Given the description of an element on the screen output the (x, y) to click on. 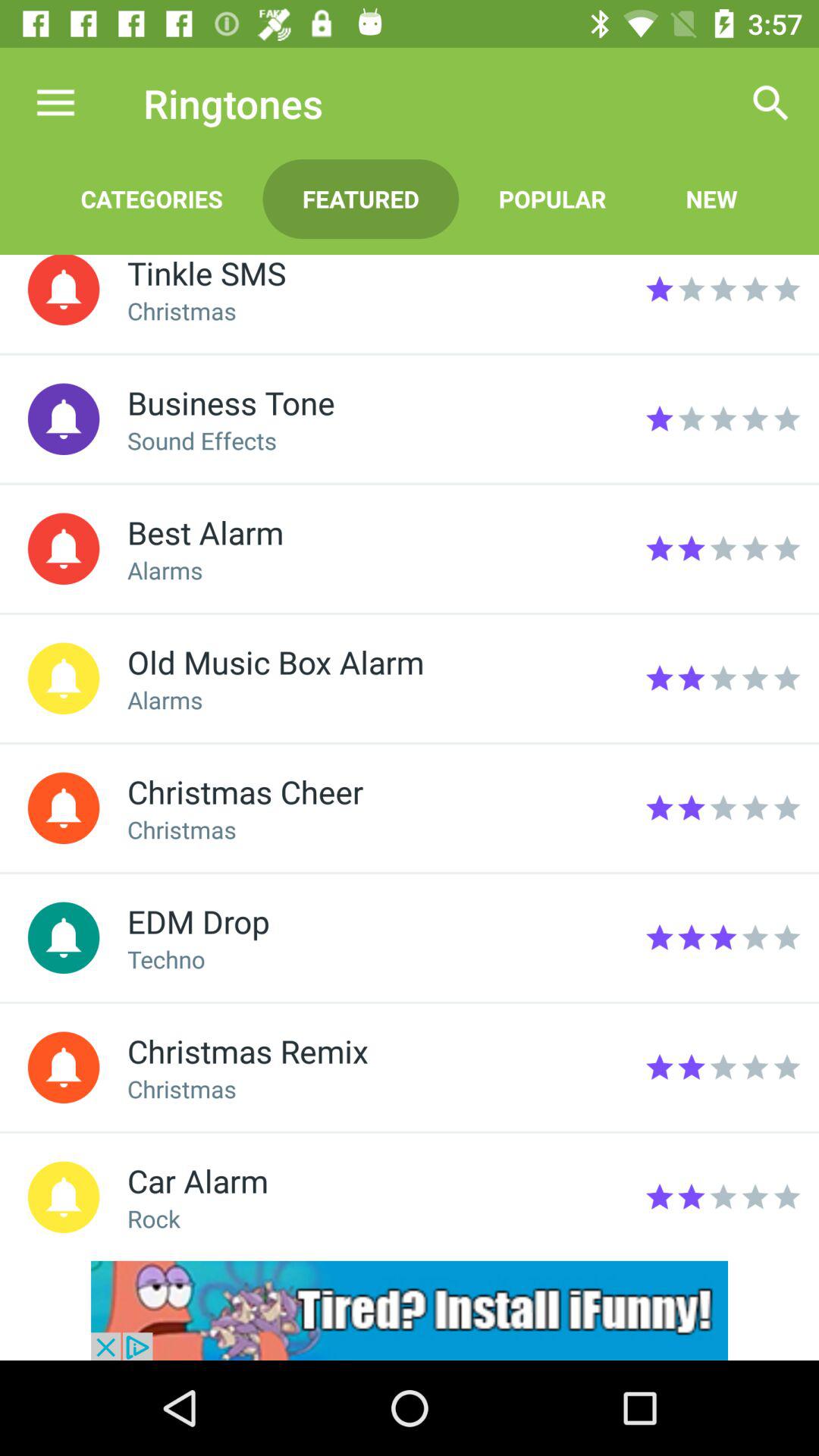
advertisement (409, 1310)
